Given the description of an element on the screen output the (x, y) to click on. 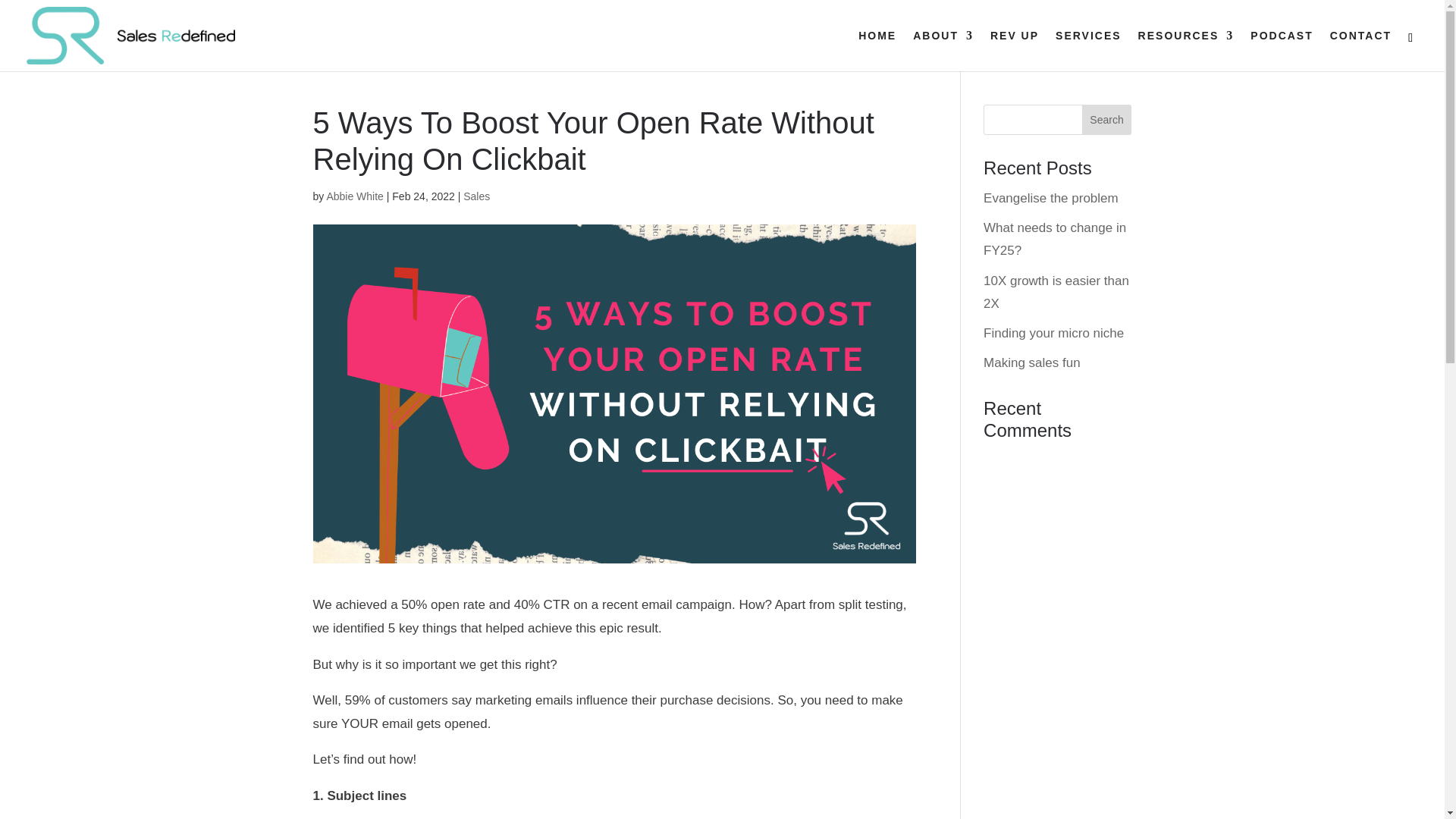
10X growth is easier than 2X (1056, 292)
Sales (476, 196)
ABOUT (943, 50)
PODCAST (1281, 50)
Posts by Abbie White (354, 196)
Evangelise the problem (1051, 197)
CONTACT (1360, 50)
What needs to change in FY25? (1054, 239)
RESOURCES (1186, 50)
Search (1106, 119)
